Given the description of an element on the screen output the (x, y) to click on. 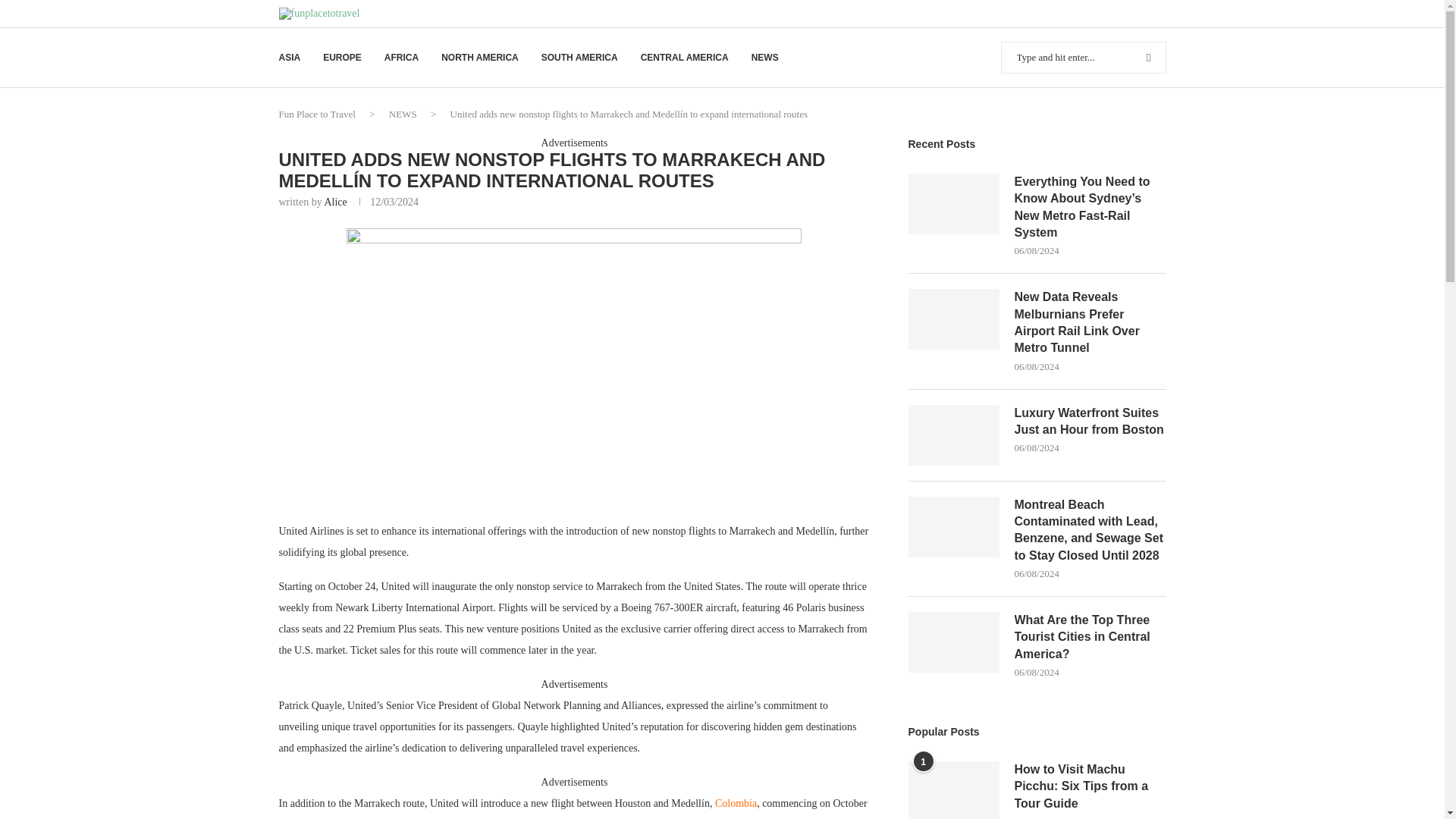
Colombia (735, 803)
CENTRAL AMERICA (684, 57)
Alice (334, 202)
NORTH AMERICA (479, 57)
Luxury Waterfront Suites Just an Hour from Boston (953, 435)
NEWS (402, 113)
27095009 (574, 364)
SOUTH AMERICA (579, 57)
Fun Place to Travel (317, 113)
